Given the description of an element on the screen output the (x, y) to click on. 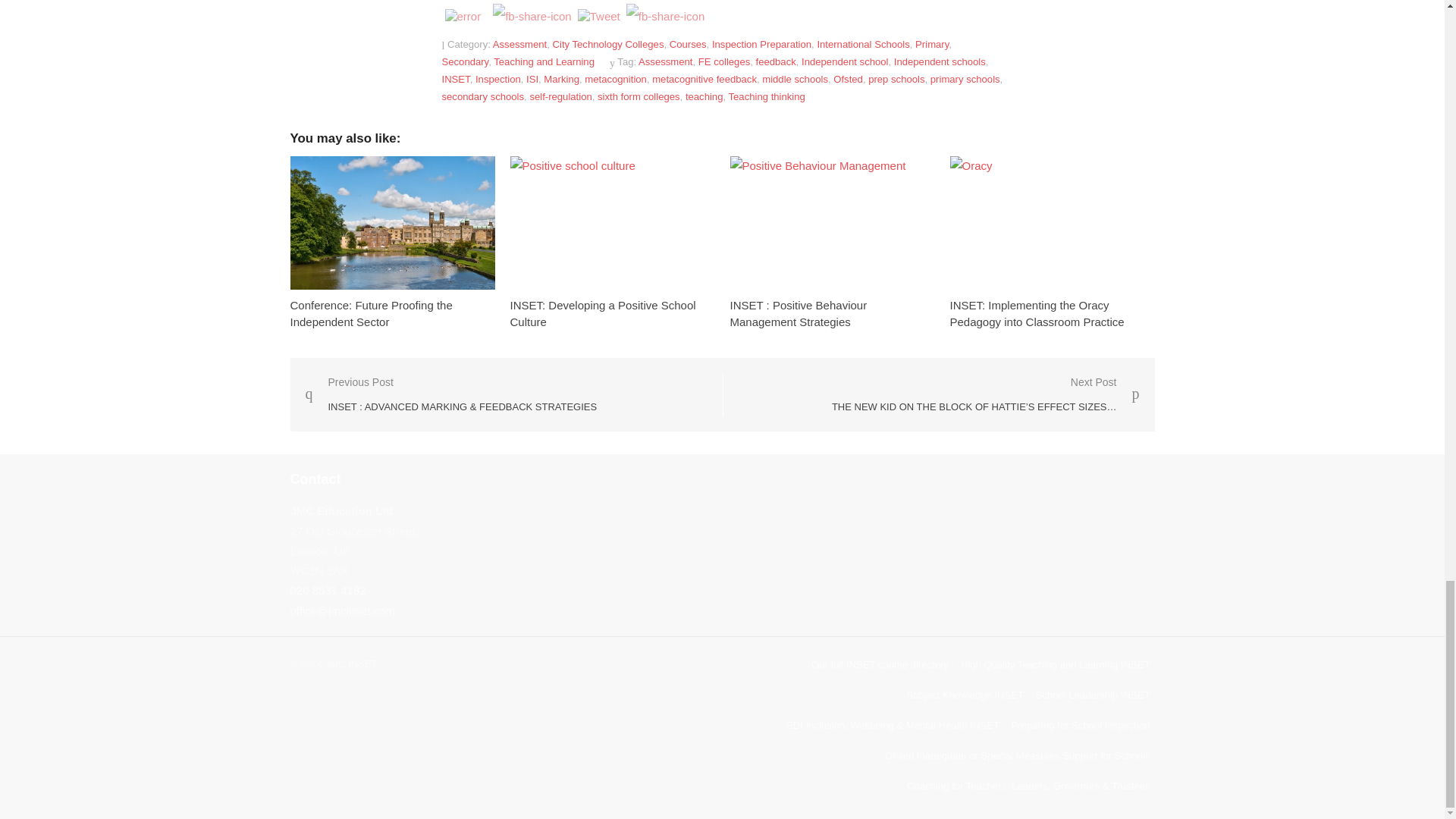
Facebook Share (532, 16)
Tweet (599, 16)
Pin Share (665, 16)
